Given the description of an element on the screen output the (x, y) to click on. 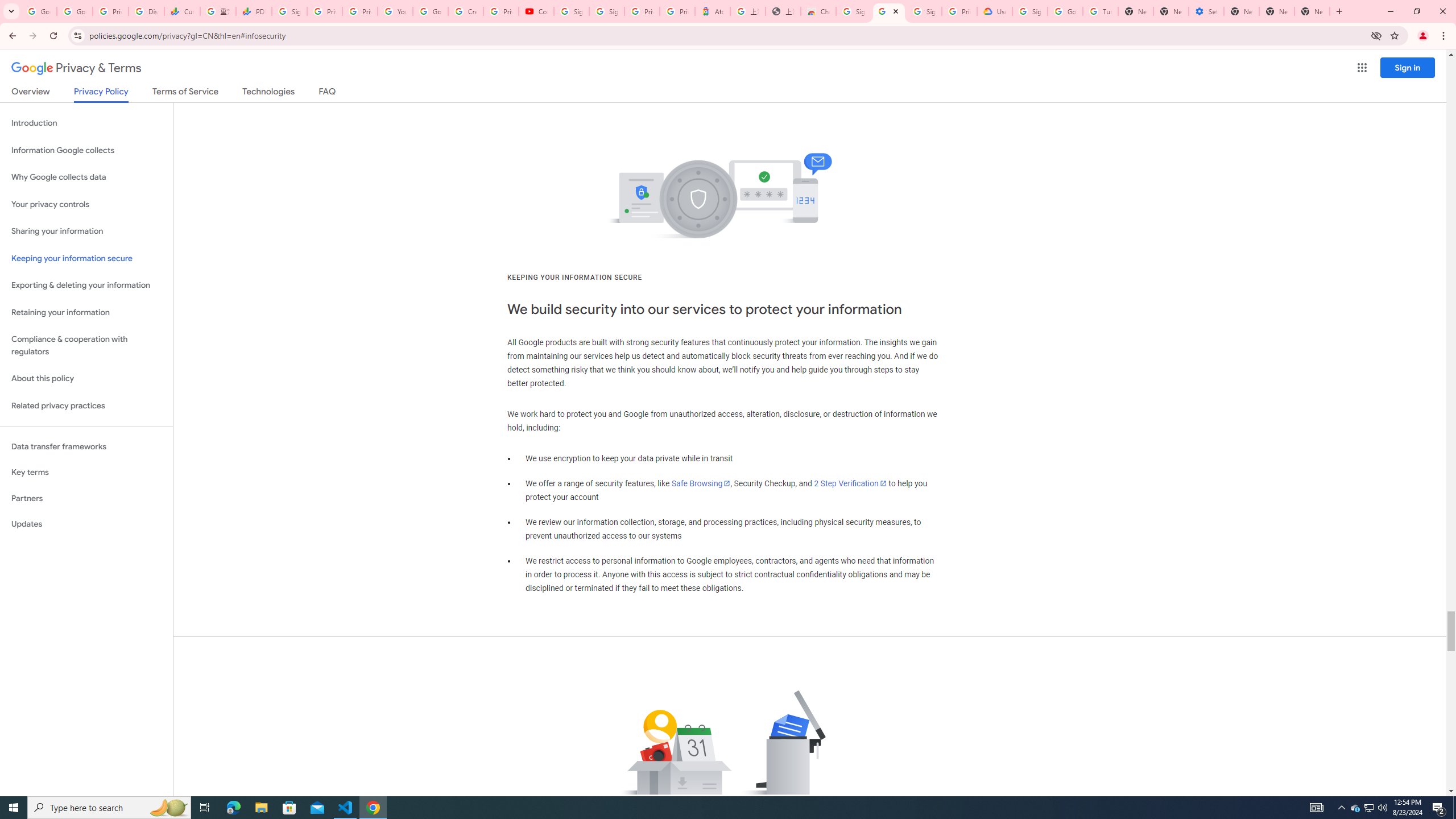
Atour Hotel - Google hotels (712, 11)
Your privacy controls (86, 204)
Google Account Help (1064, 11)
Google Account Help (429, 11)
Currencies - Google Finance (181, 11)
Sign in - Google Accounts (605, 11)
2 Step Verification (849, 483)
Information Google collects (86, 150)
Related privacy practices (86, 405)
